Given the description of an element on the screen output the (x, y) to click on. 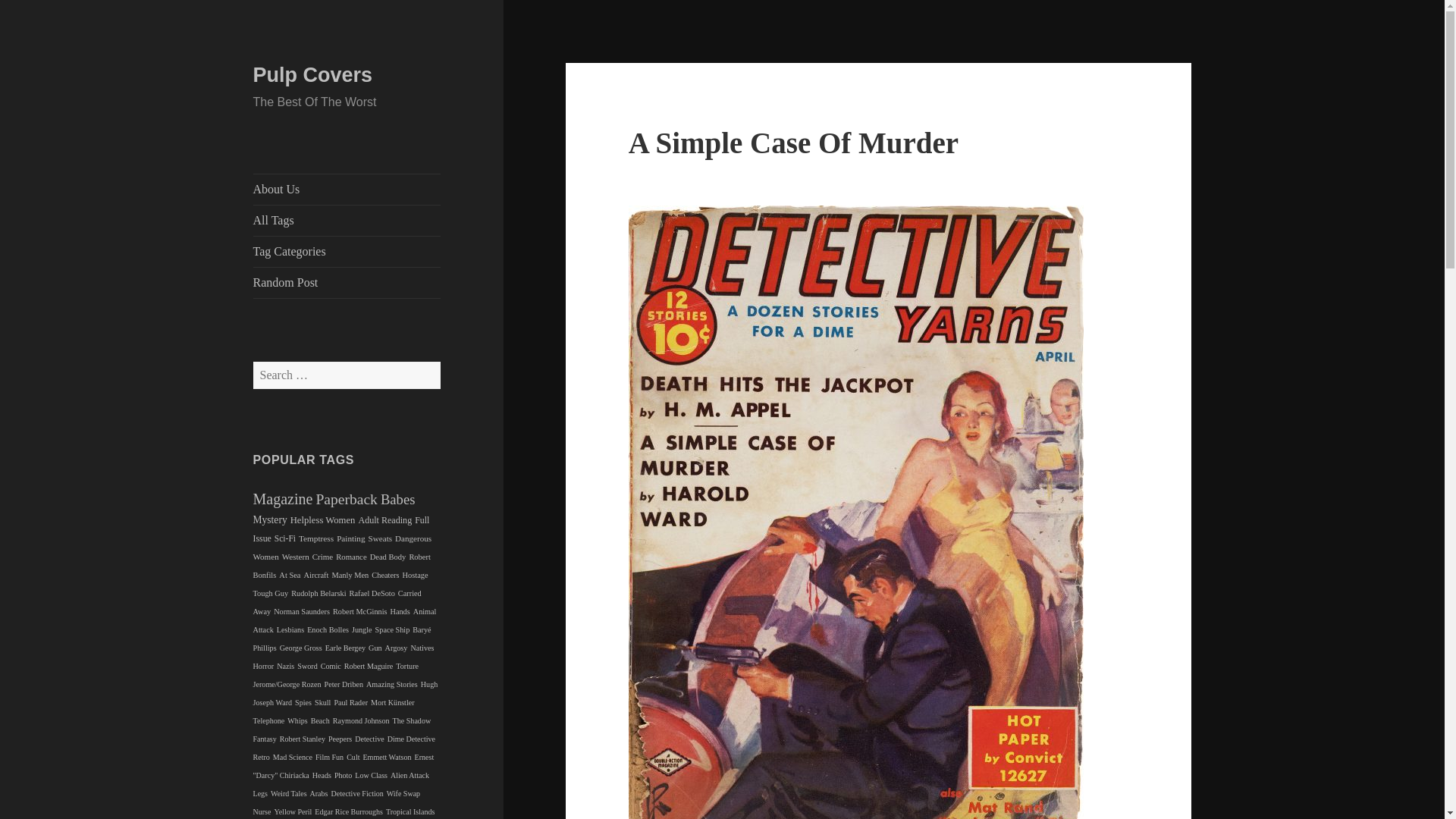
Sweats (380, 537)
3300 topics (322, 520)
Dangerous Women (342, 547)
Magazine (283, 498)
Rafael DeSoto (371, 592)
Full Issue (341, 529)
Crime (323, 556)
Helpless Women (322, 520)
About Us (347, 189)
1507 topics (380, 537)
